Given the description of an element on the screen output the (x, y) to click on. 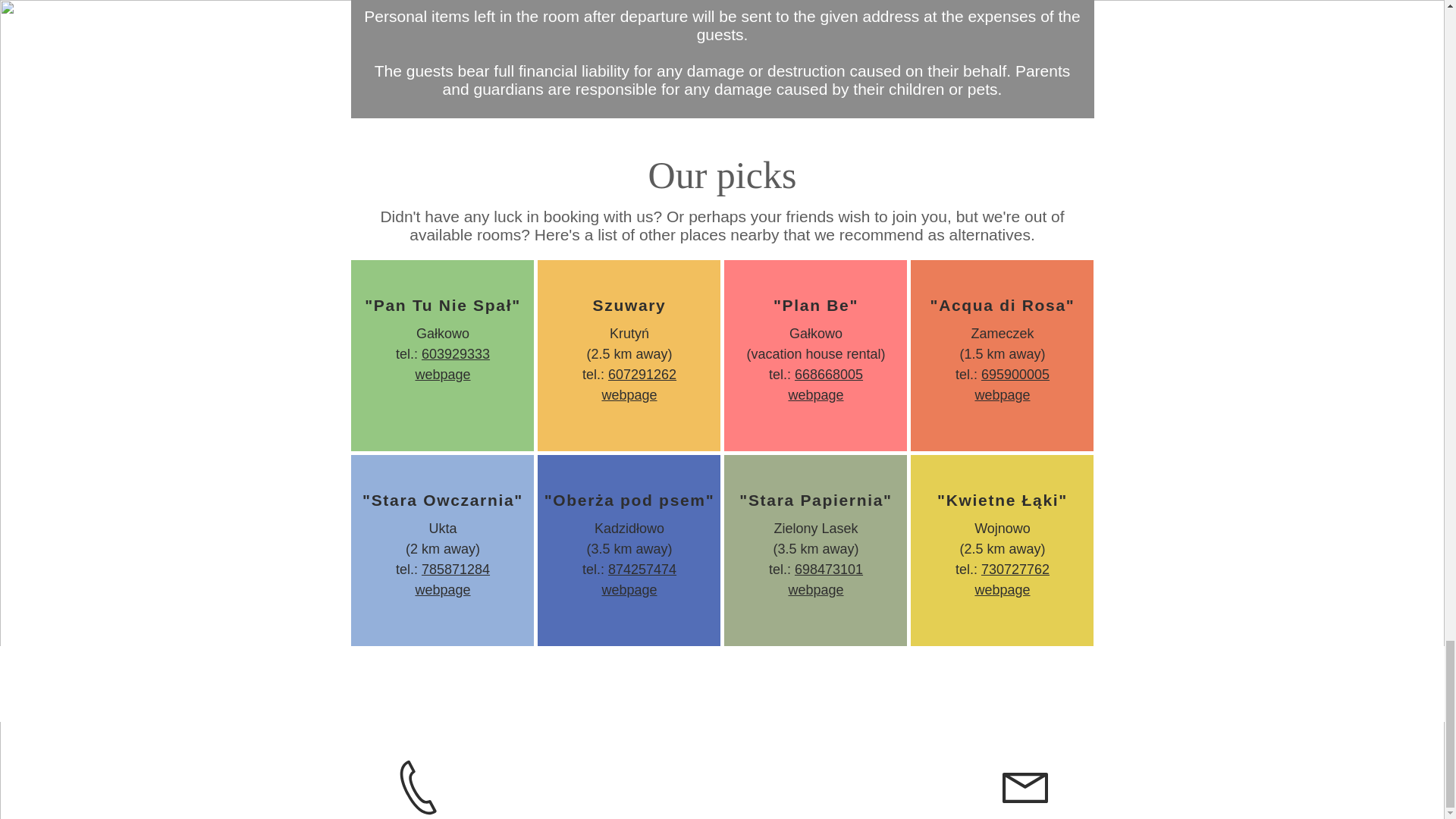
webpage (442, 374)
webpage (815, 589)
webpage (628, 589)
webpage (1001, 589)
668668005 (828, 374)
webpage (1001, 394)
webpage (815, 394)
698473101 (828, 569)
607291262 (642, 374)
webpage (442, 589)
730727762 (1015, 569)
785871284 (455, 569)
webpage (628, 394)
874257474 (642, 569)
695900005 (1015, 374)
